Given the description of an element on the screen output the (x, y) to click on. 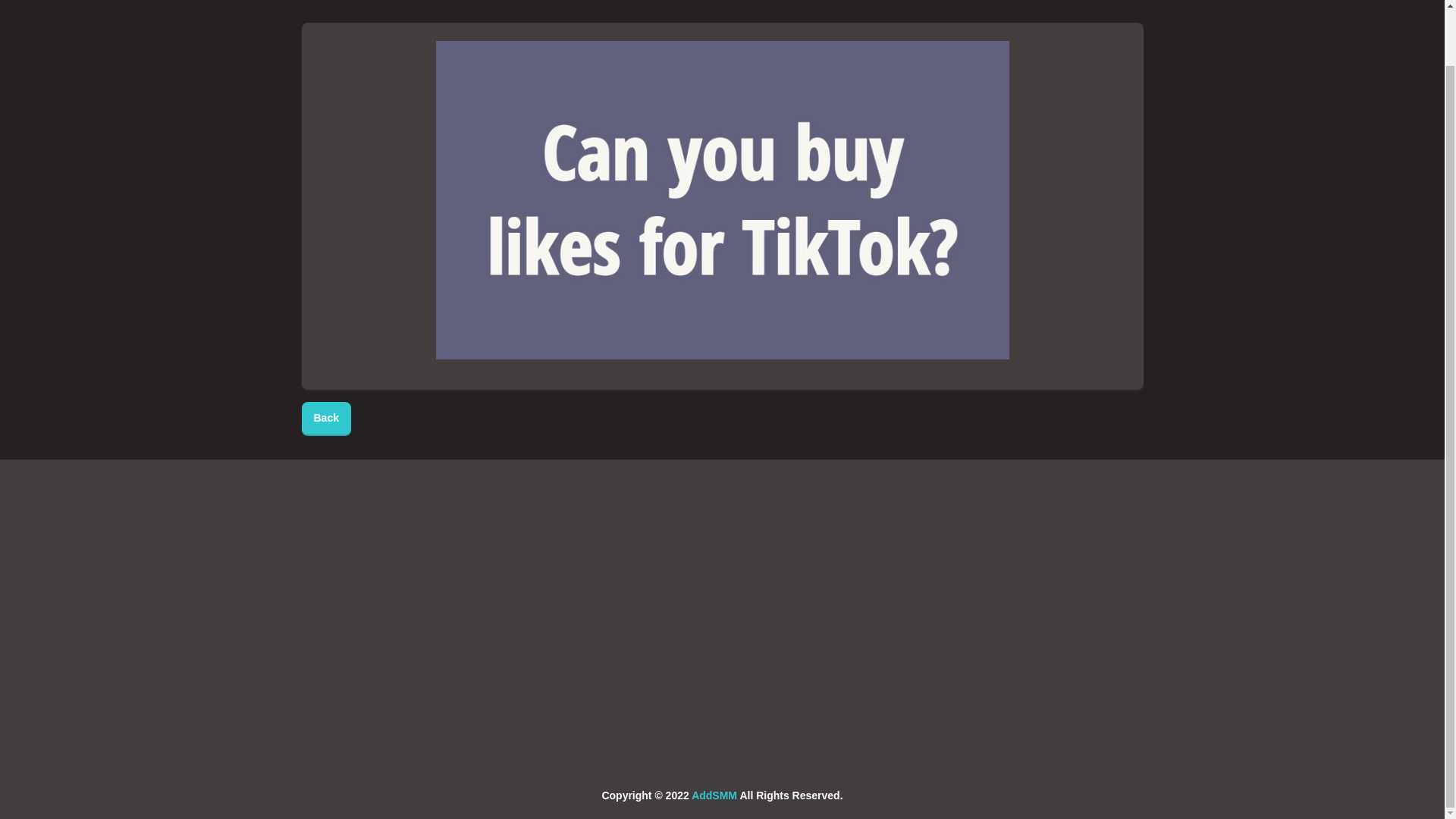
Back (325, 418)
